Given the description of an element on the screen output the (x, y) to click on. 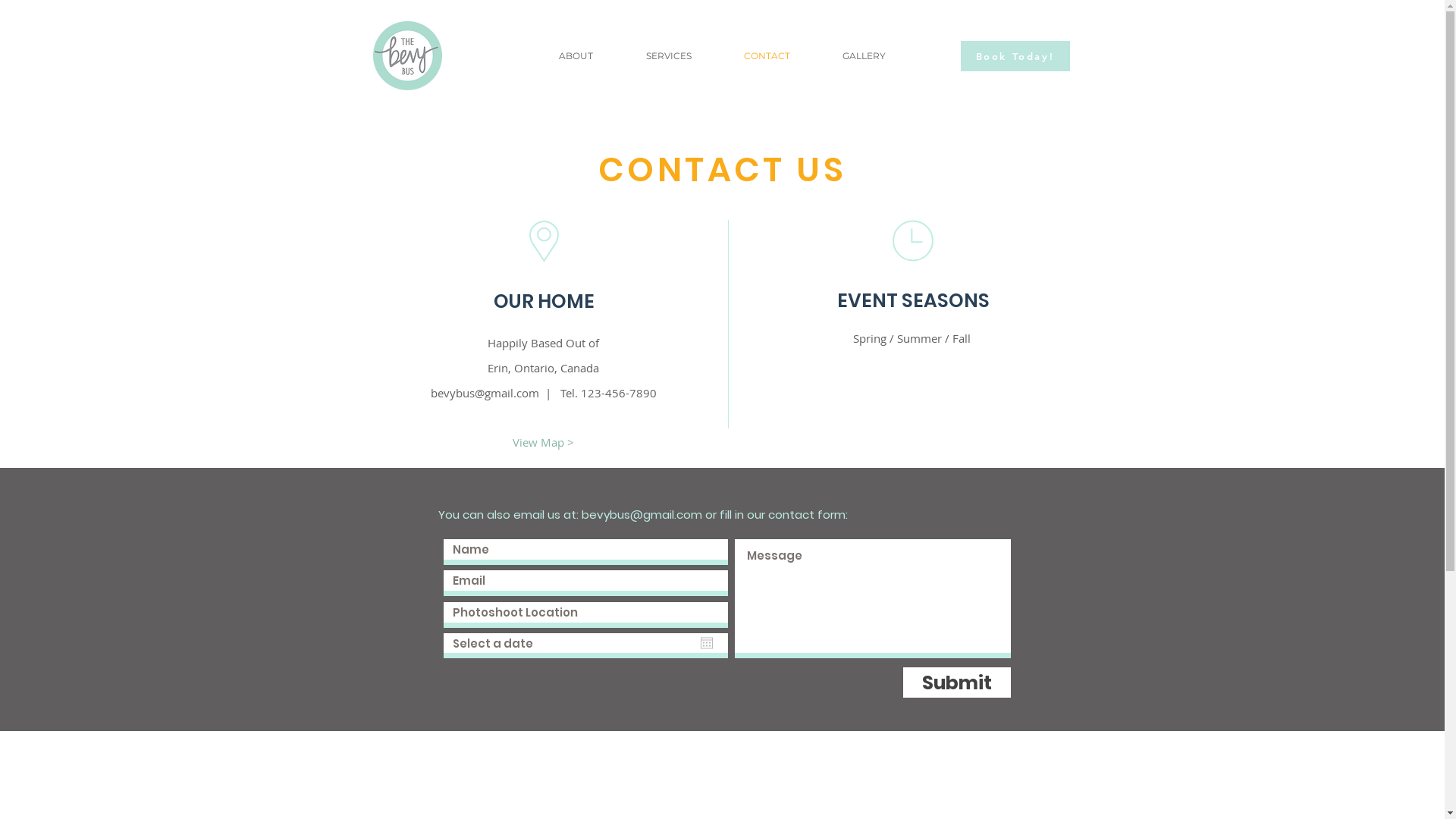
bevybus@gmail.com Element type: text (484, 392)
GALLERY Element type: text (863, 55)
ABOUT Element type: text (575, 55)
View Map > Element type: text (543, 441)
SERVICES Element type: text (667, 55)
CONTACT Element type: text (766, 55)
bevybus@gmail.com Element type: text (640, 514)
Book Today! Element type: text (1014, 55)
Submit Element type: text (956, 682)
